Given the description of an element on the screen output the (x, y) to click on. 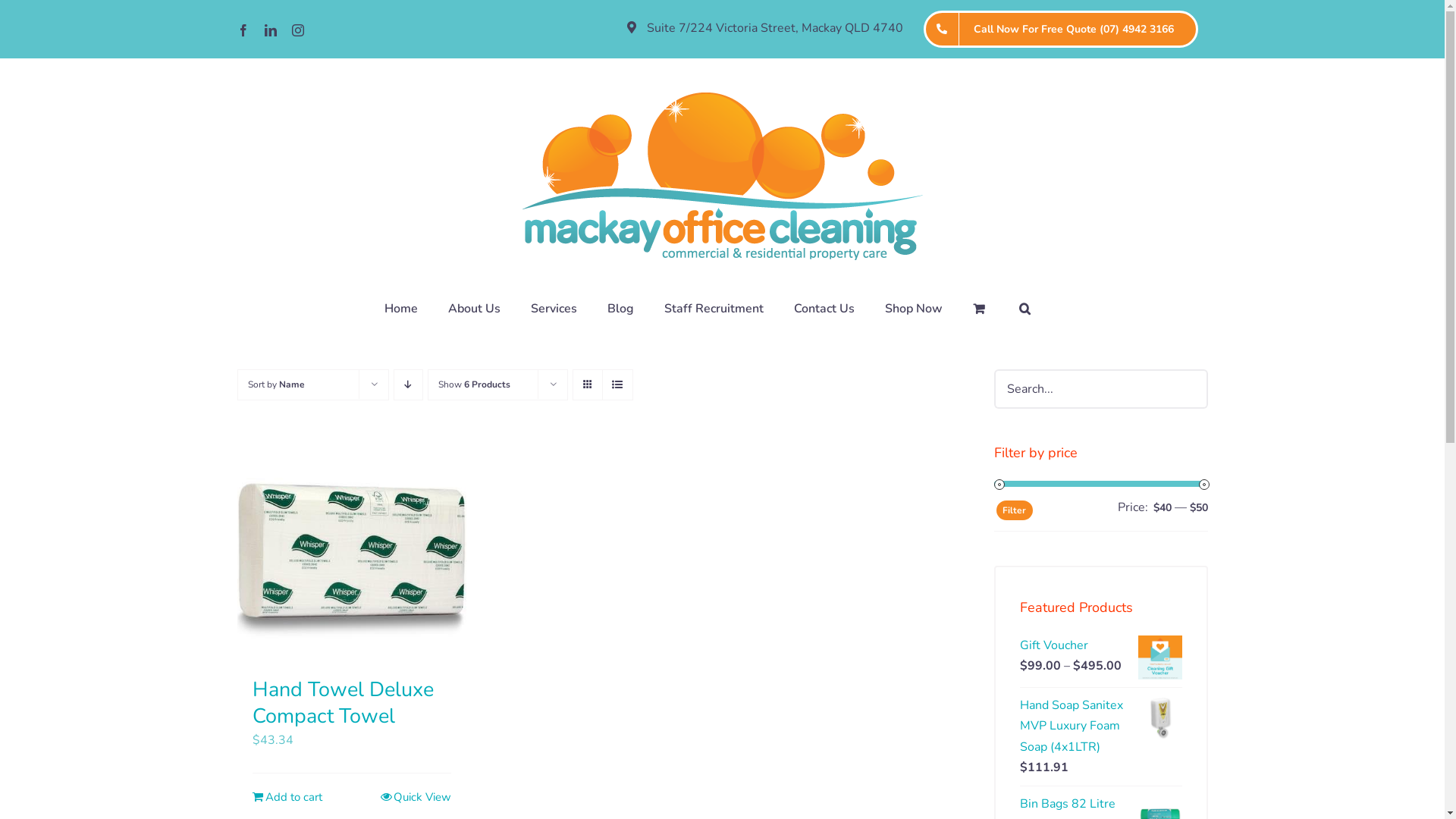
Gift Voucher Element type: text (1053, 645)
Blog Element type: text (619, 308)
Shop Now Element type: text (912, 308)
Call Now For Free Quote (07) 4942 3166 Element type: text (1060, 28)
Contact Us Element type: text (823, 308)
About Us Element type: text (473, 308)
Quick View Element type: text (415, 797)
Show 6 Products Element type: text (474, 384)
Hand Towel Deluxe Compact Towel Element type: text (342, 702)
Add to cart Element type: text (286, 797)
Filter Element type: text (1014, 510)
Hand Soap Sanitex MVP Luxury Foam Soap (4x1LTR) Element type: text (1071, 725)
Facebook Element type: text (242, 30)
Search Element type: hover (1024, 308)
Staff Recruitment Element type: text (713, 308)
Sort by Name Element type: text (275, 384)
Instagram Element type: text (297, 30)
Suite 7/224 Victoria Street, Mackay QLD 4740 Element type: text (765, 28)
LinkedIn Element type: text (269, 30)
Home Element type: text (400, 308)
Services Element type: text (553, 308)
